Given the description of an element on the screen output the (x, y) to click on. 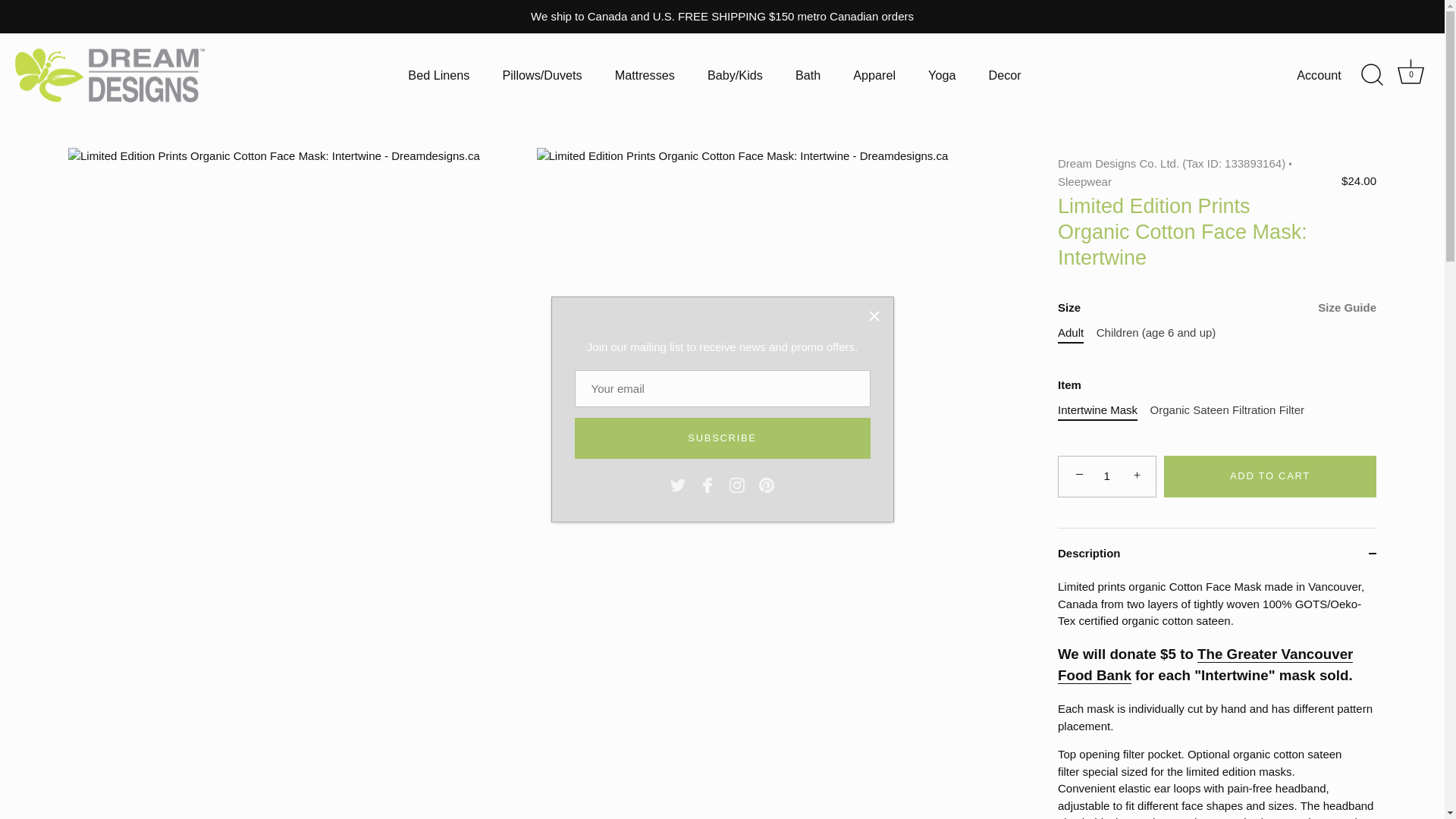
Bed Linens (438, 75)
Pinterest (766, 485)
Cart (1410, 71)
Account (1332, 75)
Decor (1004, 75)
Twitter (677, 485)
Mattresses (1411, 74)
Apparel (643, 75)
Bath (874, 75)
Instagram (807, 75)
Yoga (736, 485)
